Given the description of an element on the screen output the (x, y) to click on. 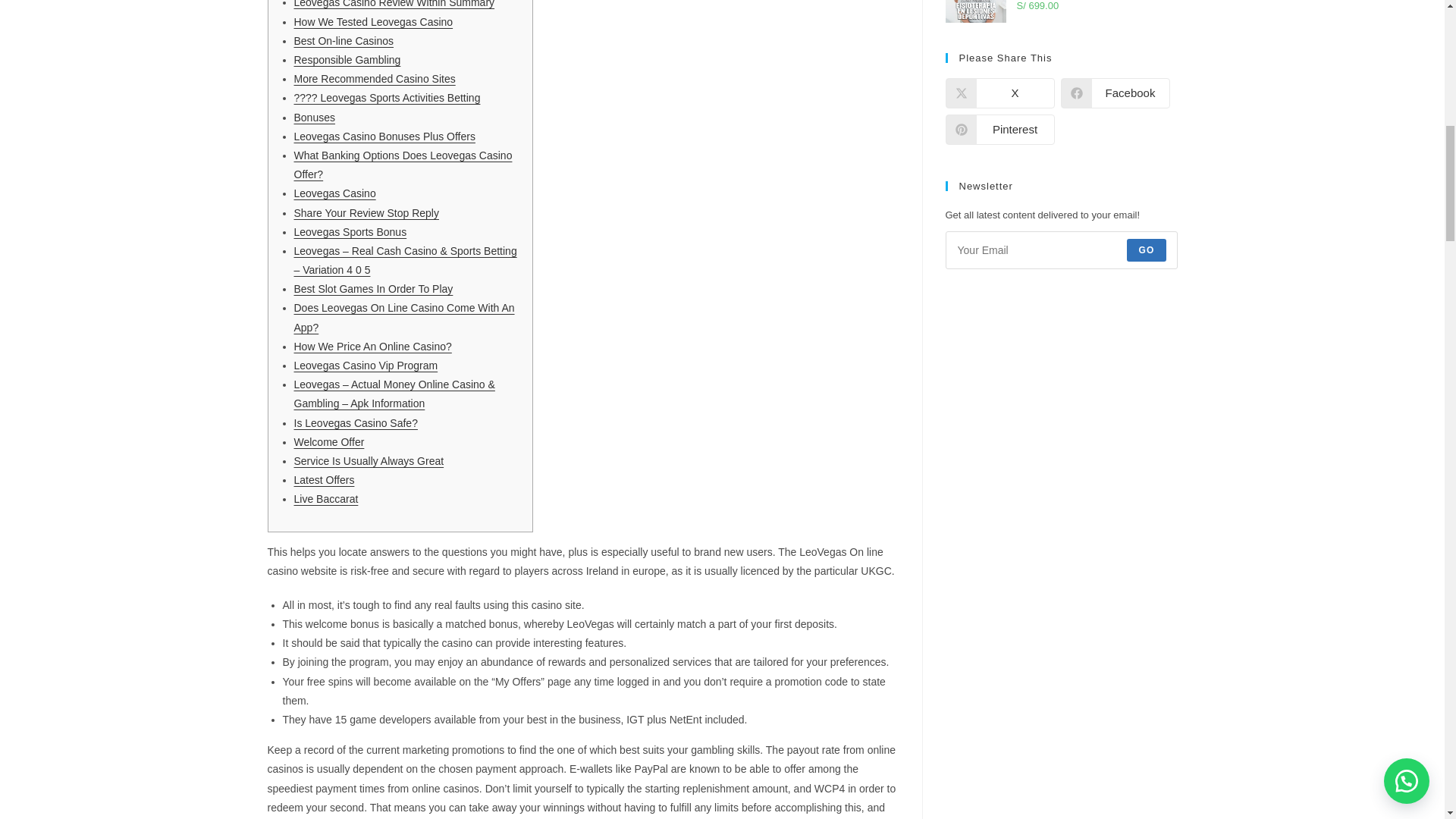
Compartir en Facebook (1114, 92)
Compartir en Pinterest (999, 129)
Compartir en X (999, 92)
